Given the description of an element on the screen output the (x, y) to click on. 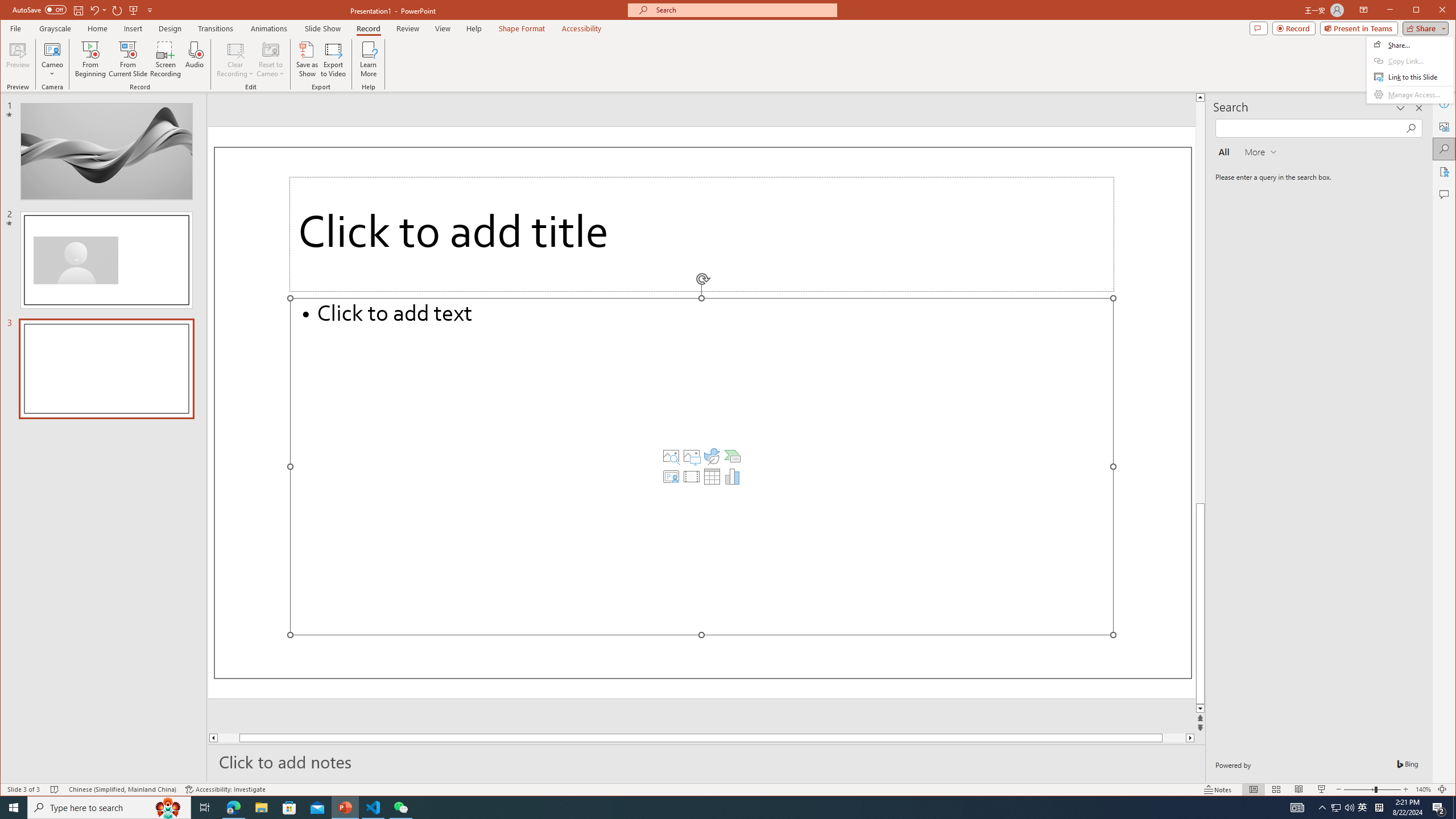
Insert a SmartArt Graphic (732, 456)
